Given the description of an element on the screen output the (x, y) to click on. 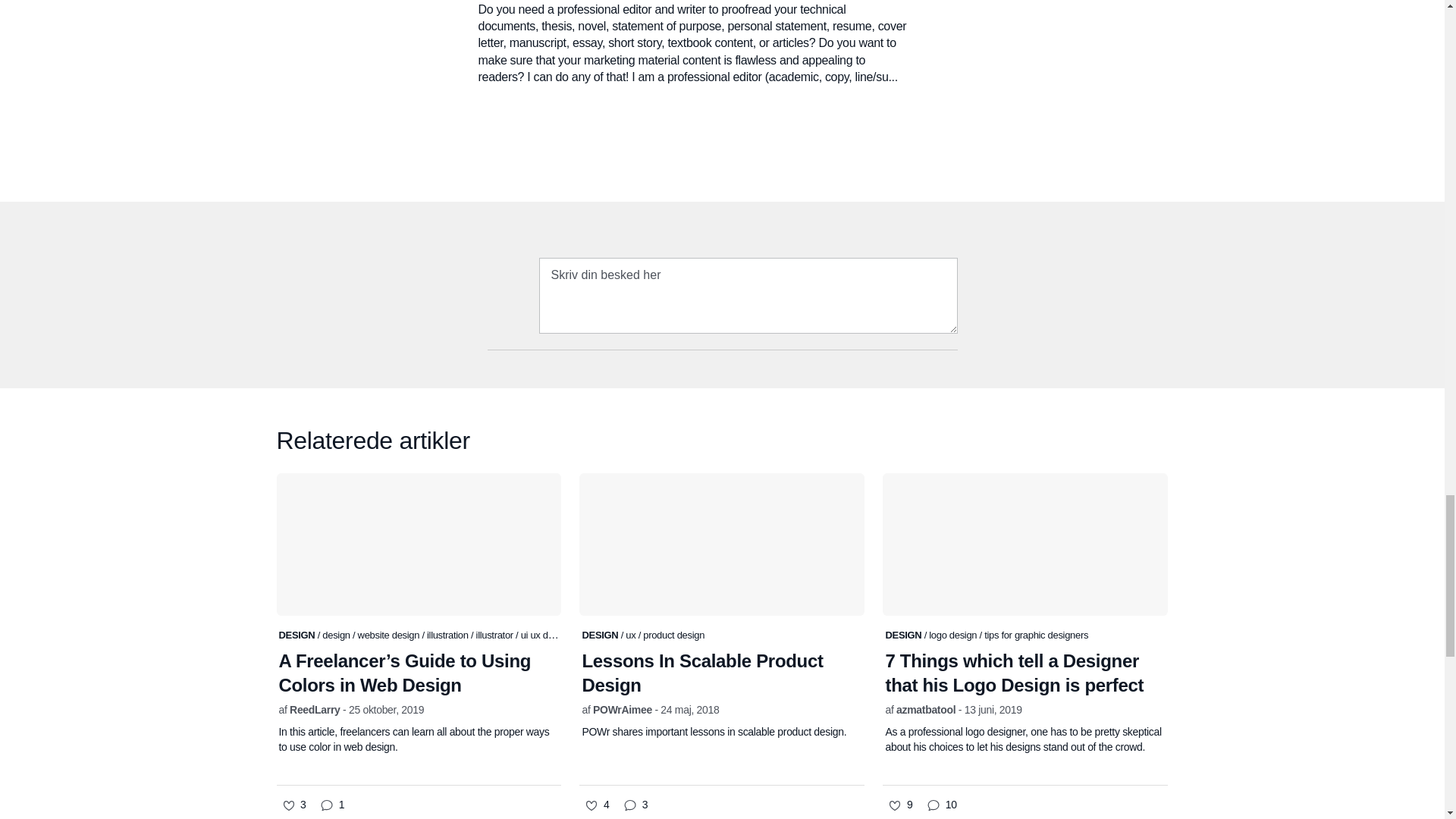
website design (390, 634)
illustrator (496, 634)
illustration (448, 634)
ReedLarry (314, 709)
DESIGN (298, 634)
ui ux designer (549, 634)
3 (293, 805)
design (336, 634)
